Given the description of an element on the screen output the (x, y) to click on. 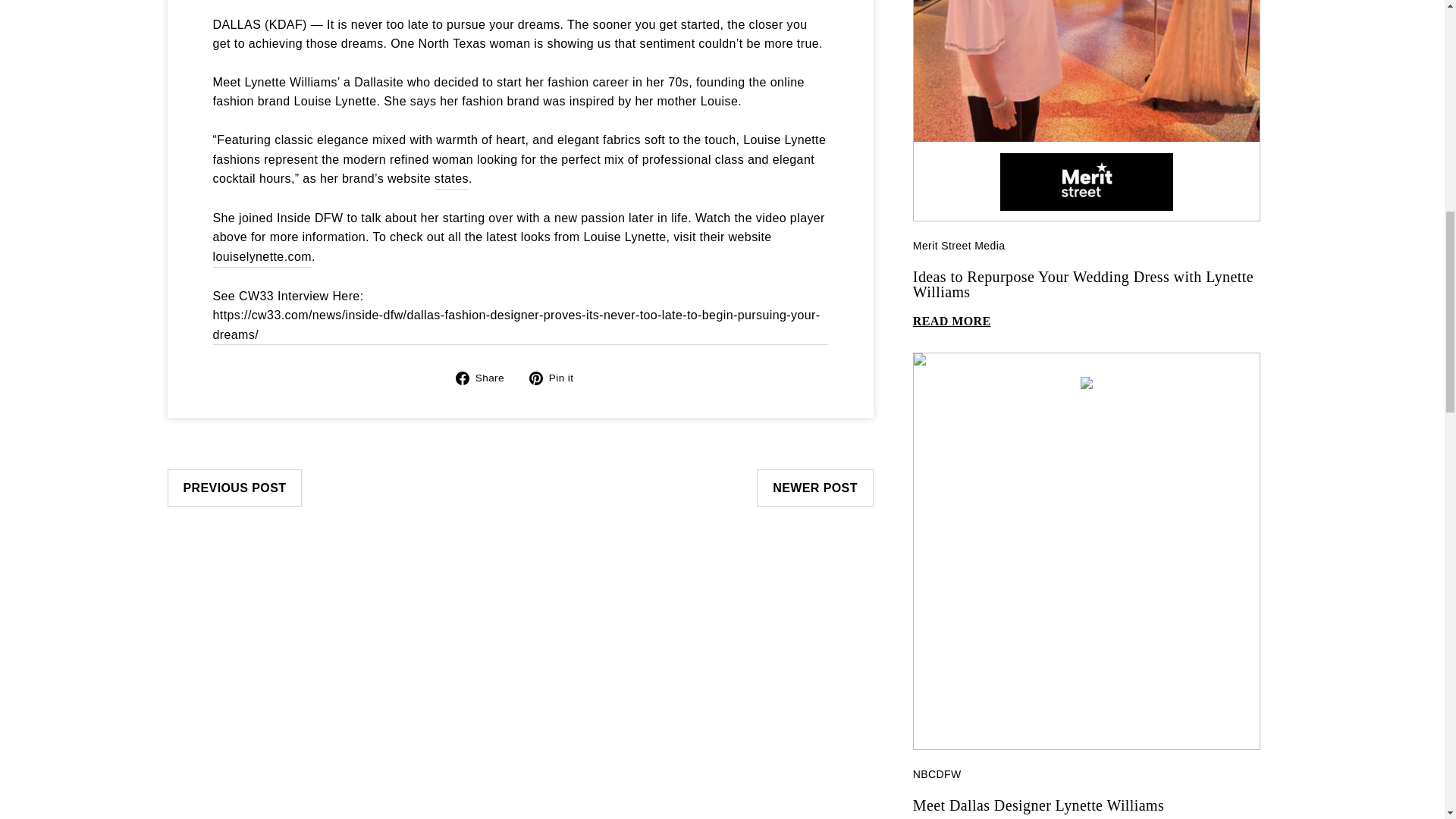
Share on Facebook (485, 377)
Pin on Pinterest (557, 377)
louiselynette.com (261, 257)
states (450, 178)
